Given the description of an element on the screen output the (x, y) to click on. 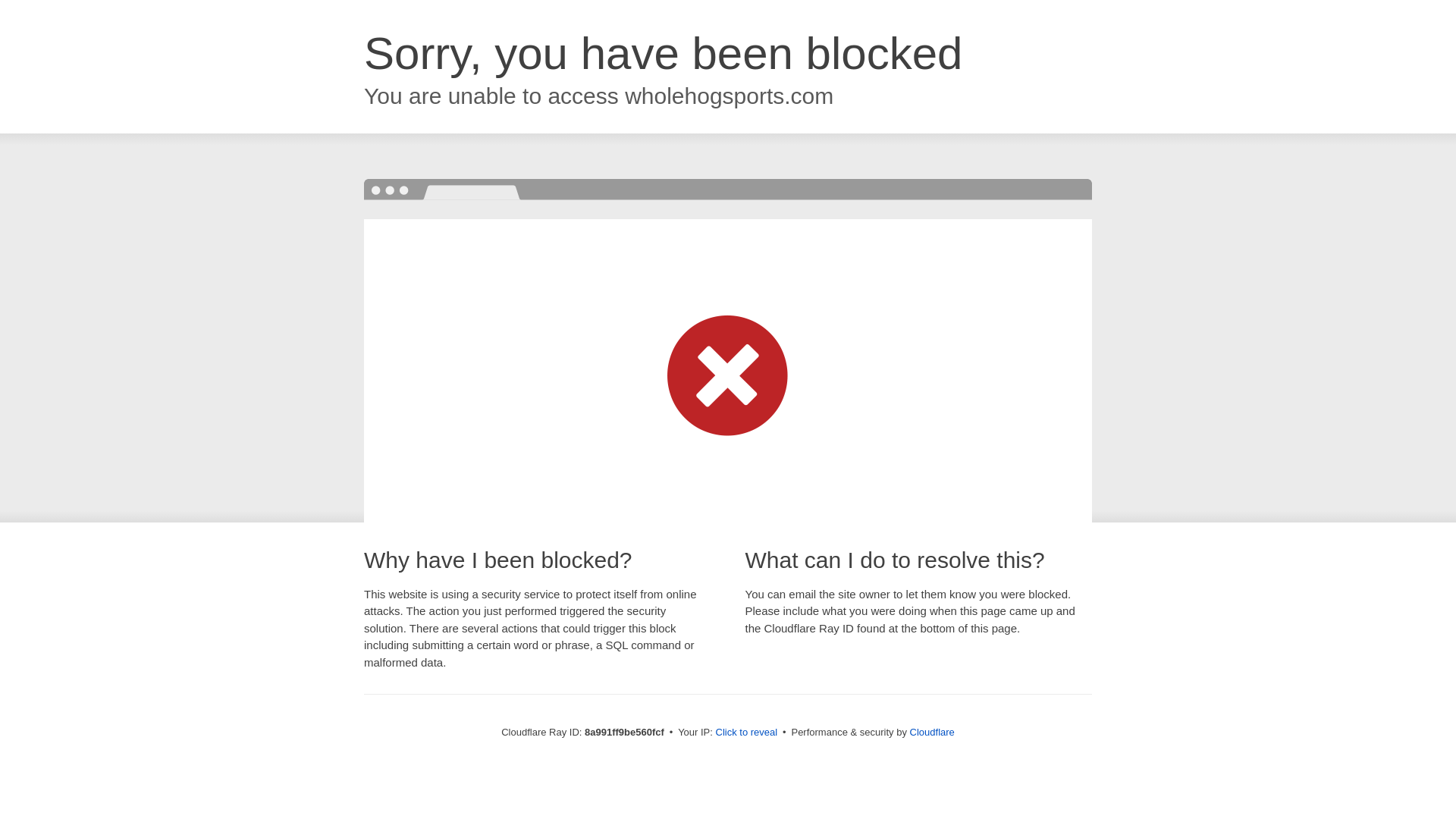
Cloudflare (932, 731)
Click to reveal (746, 732)
